Given the description of an element on the screen output the (x, y) to click on. 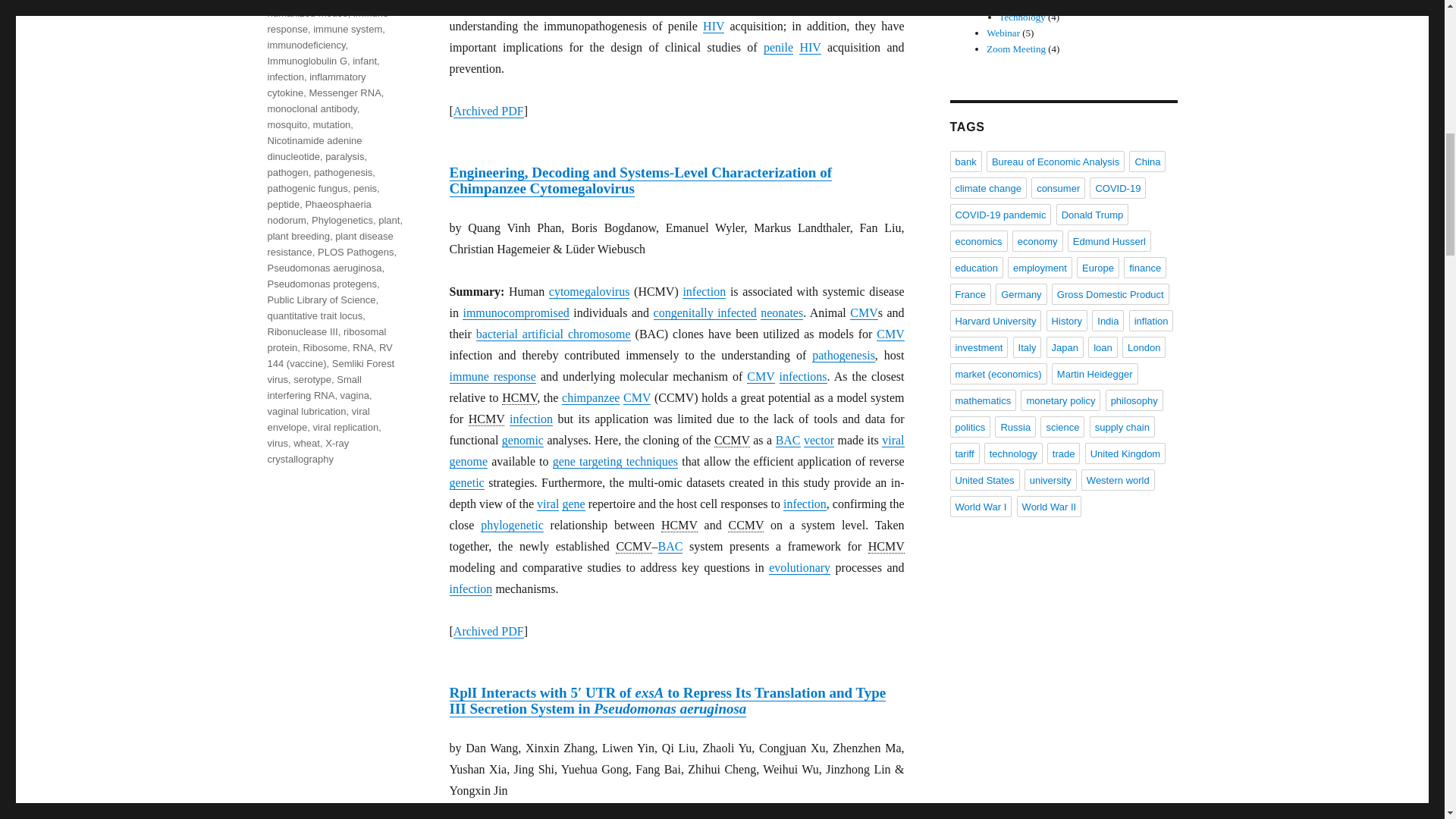
neonates (781, 312)
cytomegalovirus (760, 377)
congenitally infected (705, 312)
cytomegalovirus (863, 313)
Human Immunodeficiency Virus (810, 47)
infection (703, 291)
HIV (713, 25)
Archived PDF (488, 110)
Portable Document Format (511, 110)
immunocompromised (516, 312)
penile (777, 47)
cytomegalovirus (890, 334)
HIV (810, 47)
Human Immunodeficiency Virus (713, 26)
